Given the description of an element on the screen output the (x, y) to click on. 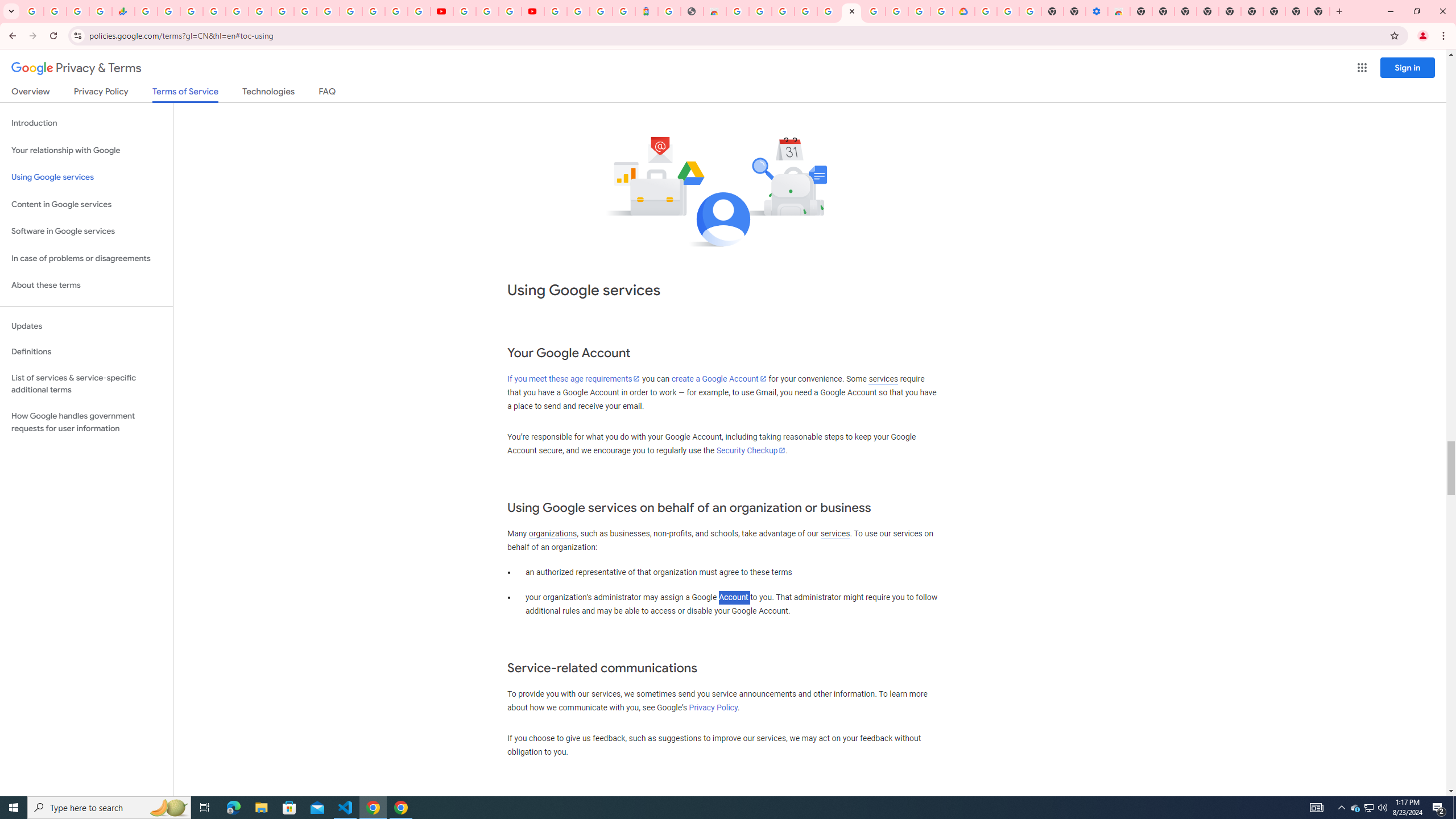
services (834, 533)
Content Creator Programs & Opportunities - YouTube Creators (532, 11)
Create your Google Account (919, 11)
Privacy & Terms (76, 68)
Sign in - Google Accounts (214, 11)
About these terms (86, 284)
Ad Settings (805, 11)
Introduction (86, 122)
